Given the description of an element on the screen output the (x, y) to click on. 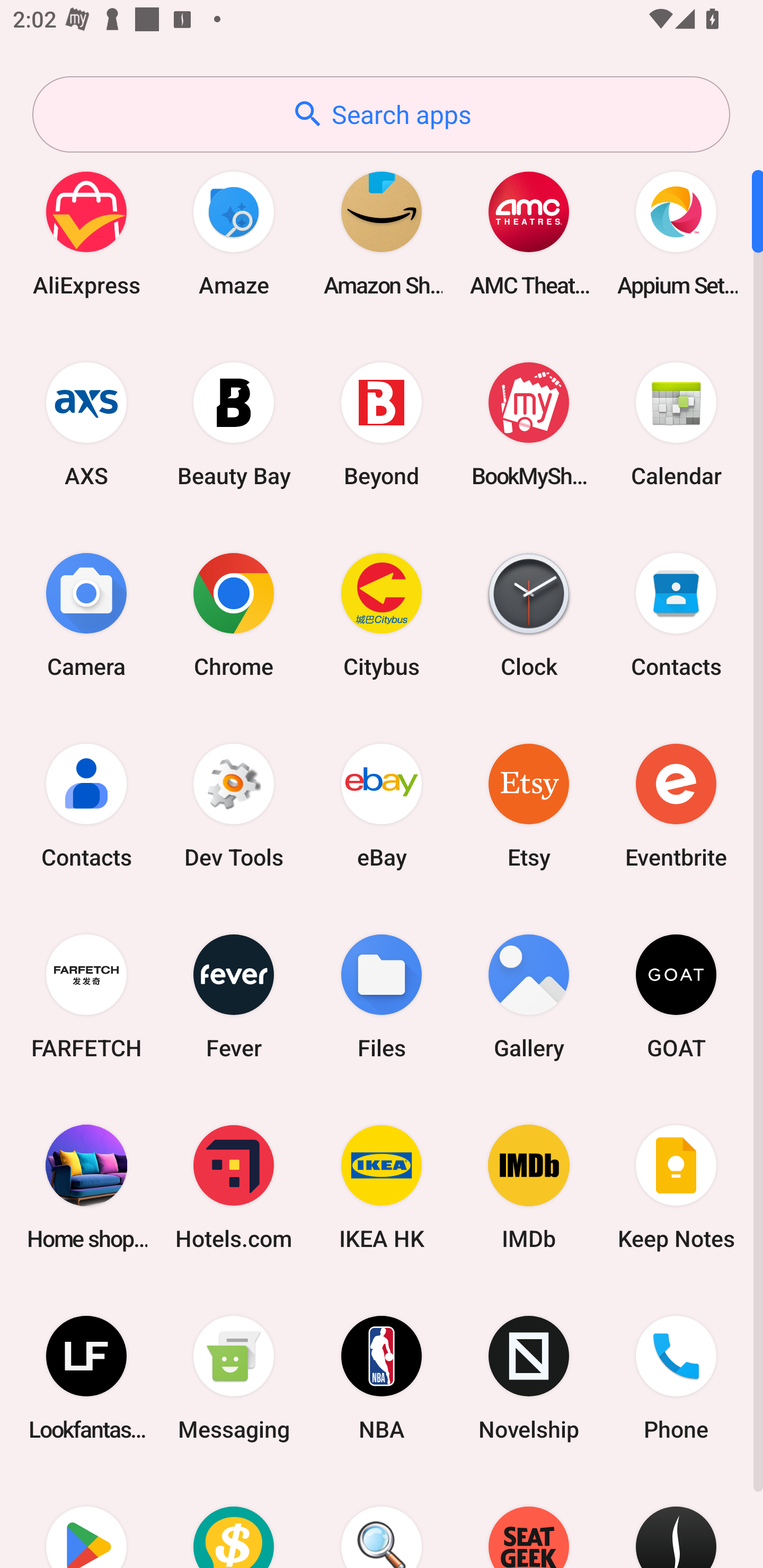
  Search apps (381, 114)
AliExpress (86, 233)
Amaze (233, 233)
Amazon Shopping (381, 233)
AMC Theatres (528, 233)
Appium Settings (676, 233)
AXS (86, 424)
Beauty Bay (233, 424)
Beyond (381, 424)
BookMyShow (528, 424)
Calendar (676, 424)
Camera (86, 614)
Chrome (233, 614)
Citybus (381, 614)
Clock (528, 614)
Contacts (676, 614)
Contacts (86, 805)
Dev Tools (233, 805)
eBay (381, 805)
Etsy (528, 805)
Eventbrite (676, 805)
FARFETCH (86, 996)
Fever (233, 996)
Files (381, 996)
Gallery (528, 996)
GOAT (676, 996)
Home shopping (86, 1186)
Hotels.com (233, 1186)
IKEA HK (381, 1186)
IMDb (528, 1186)
Keep Notes (676, 1186)
Lookfantastic (86, 1377)
Messaging (233, 1377)
NBA (381, 1377)
Novelship (528, 1377)
Phone (676, 1377)
Play Store (86, 1520)
Price (233, 1520)
Search (381, 1520)
SeatGeek (528, 1520)
Sephora (676, 1520)
